Given the description of an element on the screen output the (x, y) to click on. 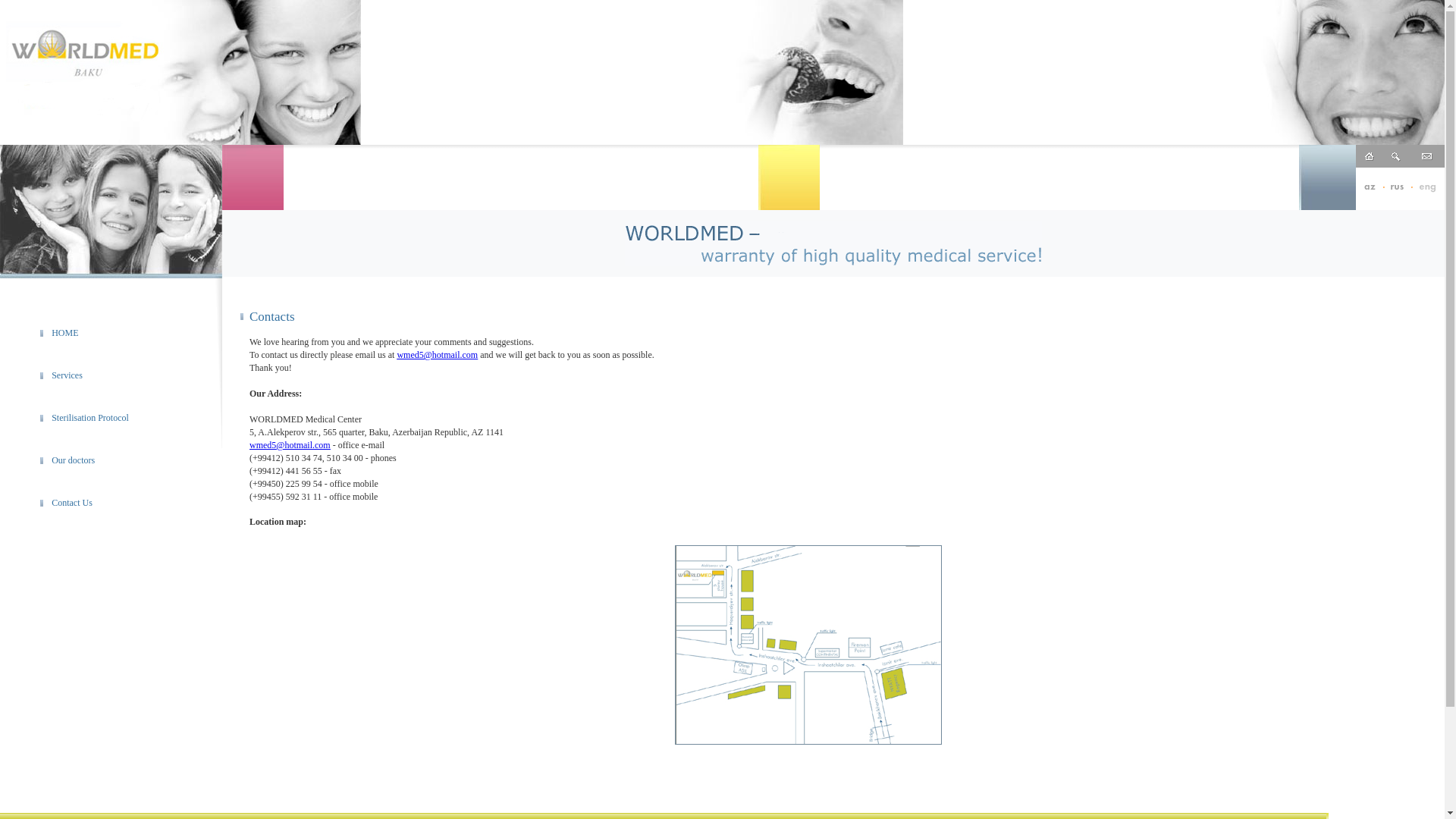
Services Element type: text (66, 375)
wmed5@hotmail.com Element type: text (289, 444)
Sterilisation Protocol Element type: text (89, 417)
Our doctors Element type: text (72, 460)
Contact Us Element type: text (71, 502)
wmed5@hotmail.com Element type: text (436, 354)
HOME Element type: text (64, 332)
